Given the description of an element on the screen output the (x, y) to click on. 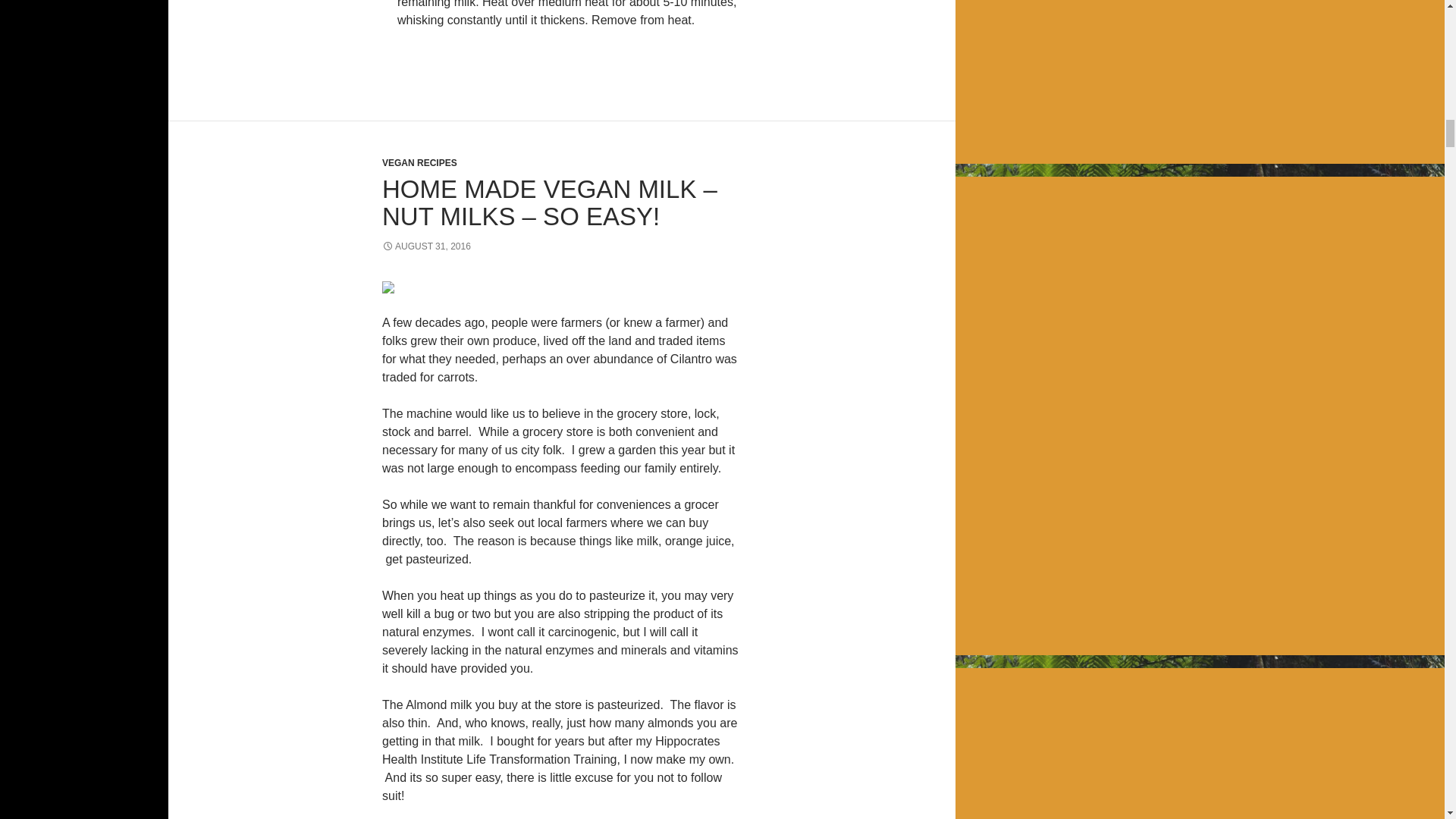
AUGUST 31, 2016 (425, 245)
VEGAN RECIPES (419, 163)
